Given the description of an element on the screen output the (x, y) to click on. 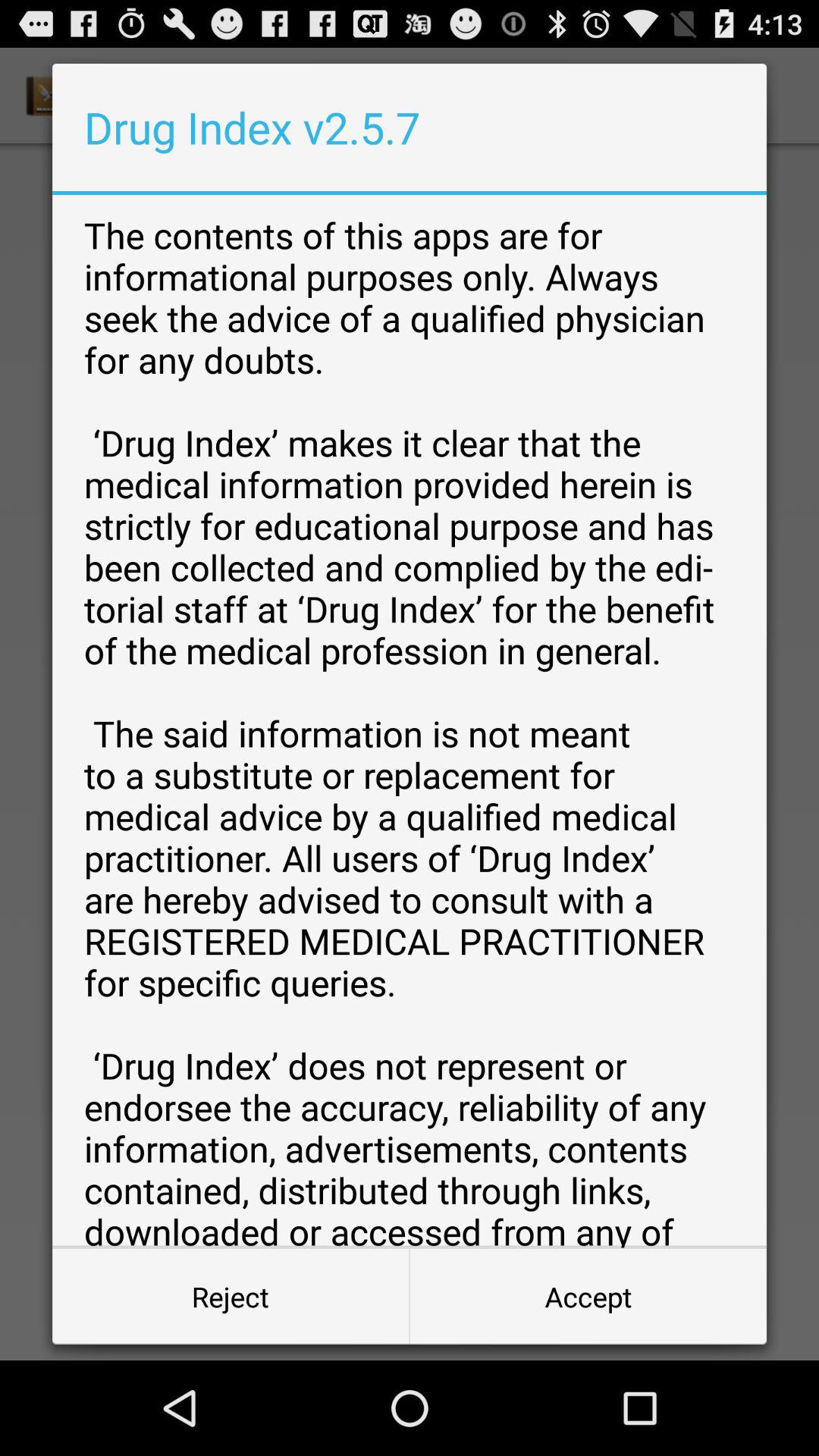
scroll to the reject (230, 1296)
